Given the description of an element on the screen output the (x, y) to click on. 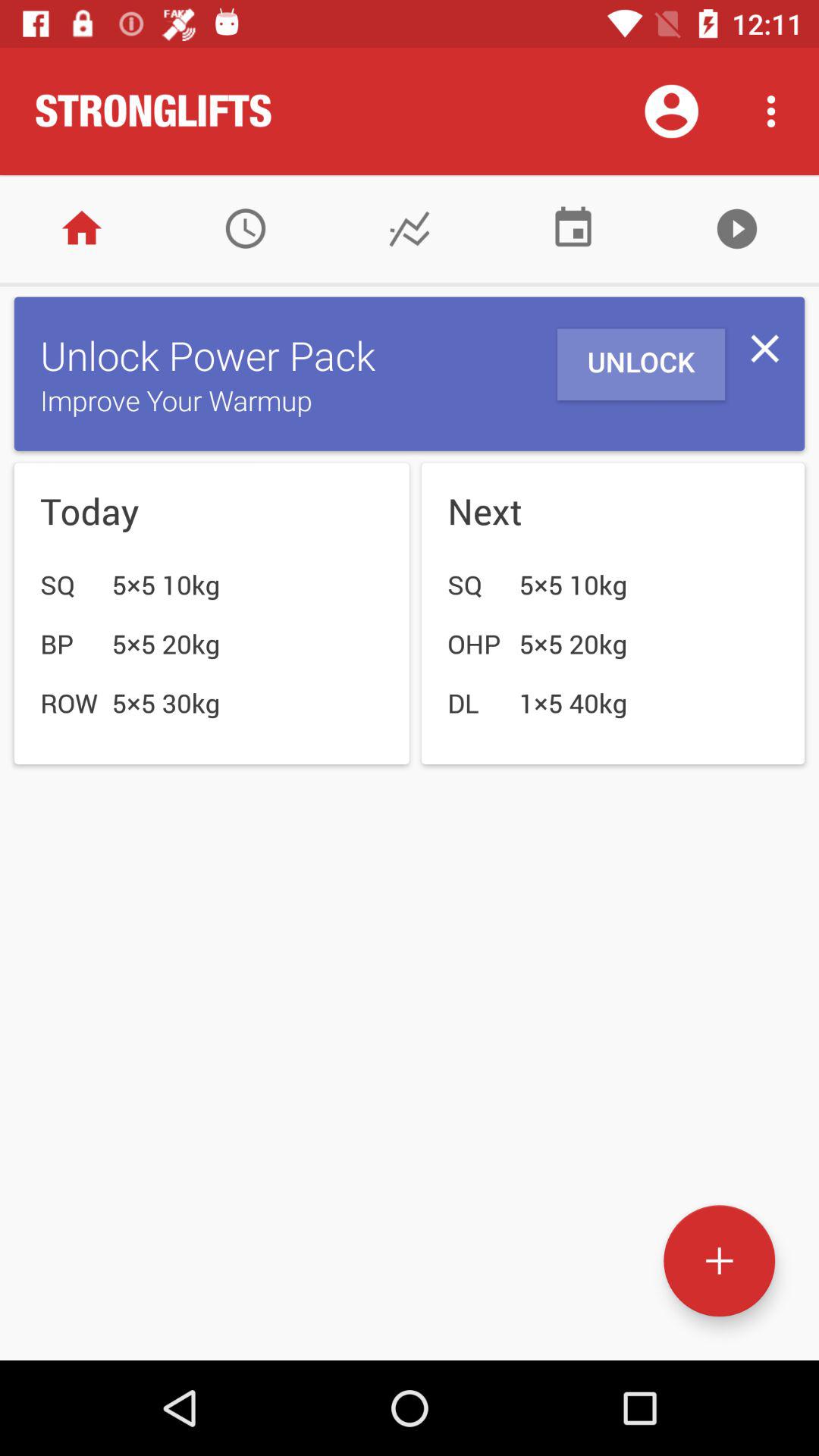
go to home screen (81, 228)
